Given the description of an element on the screen output the (x, y) to click on. 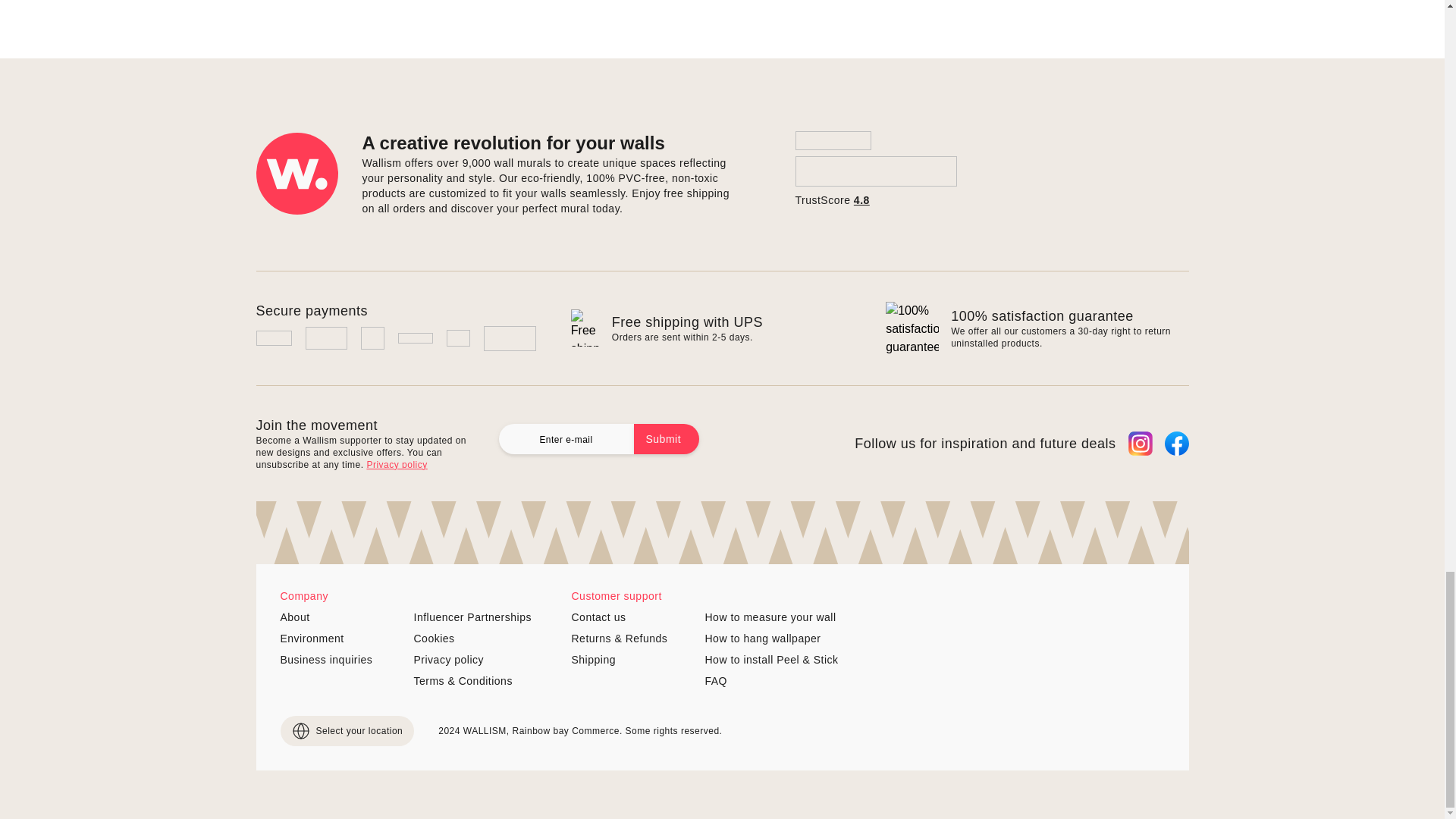
Cookies (474, 638)
How to measure your wall (771, 617)
How to hang wallpaper (771, 638)
Influencer Partnerships (474, 617)
FAQ (771, 680)
Privacy policy (396, 464)
Shipping (632, 659)
Business inquiries (341, 659)
Environment (341, 638)
TrustScore 4.8 (875, 169)
